Given the description of an element on the screen output the (x, y) to click on. 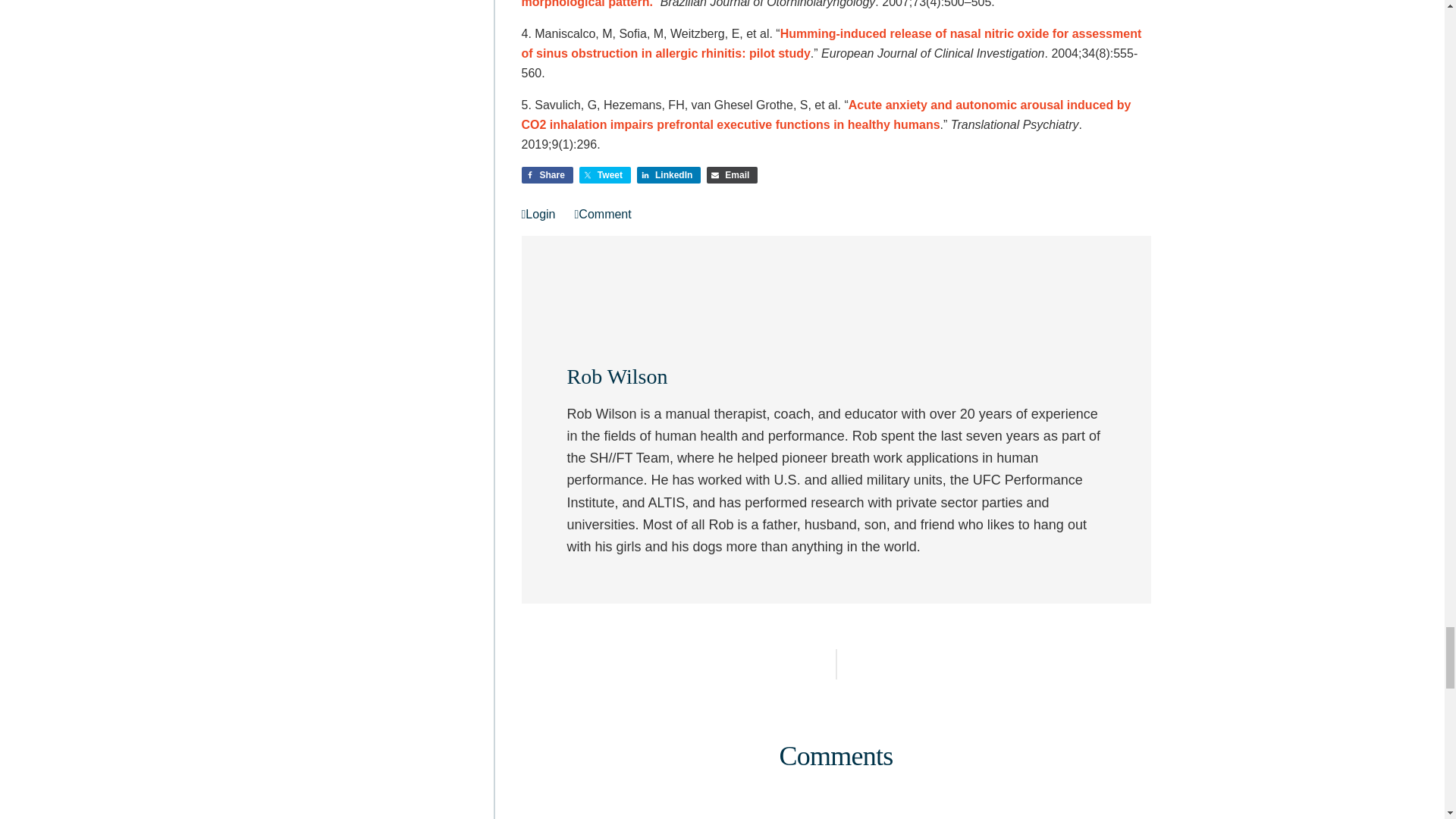
Share on Twitter (604, 175)
Share on LinkedIn (668, 175)
Share via Email (731, 175)
Share on Facebook (547, 175)
Email (731, 175)
